Given the description of an element on the screen output the (x, y) to click on. 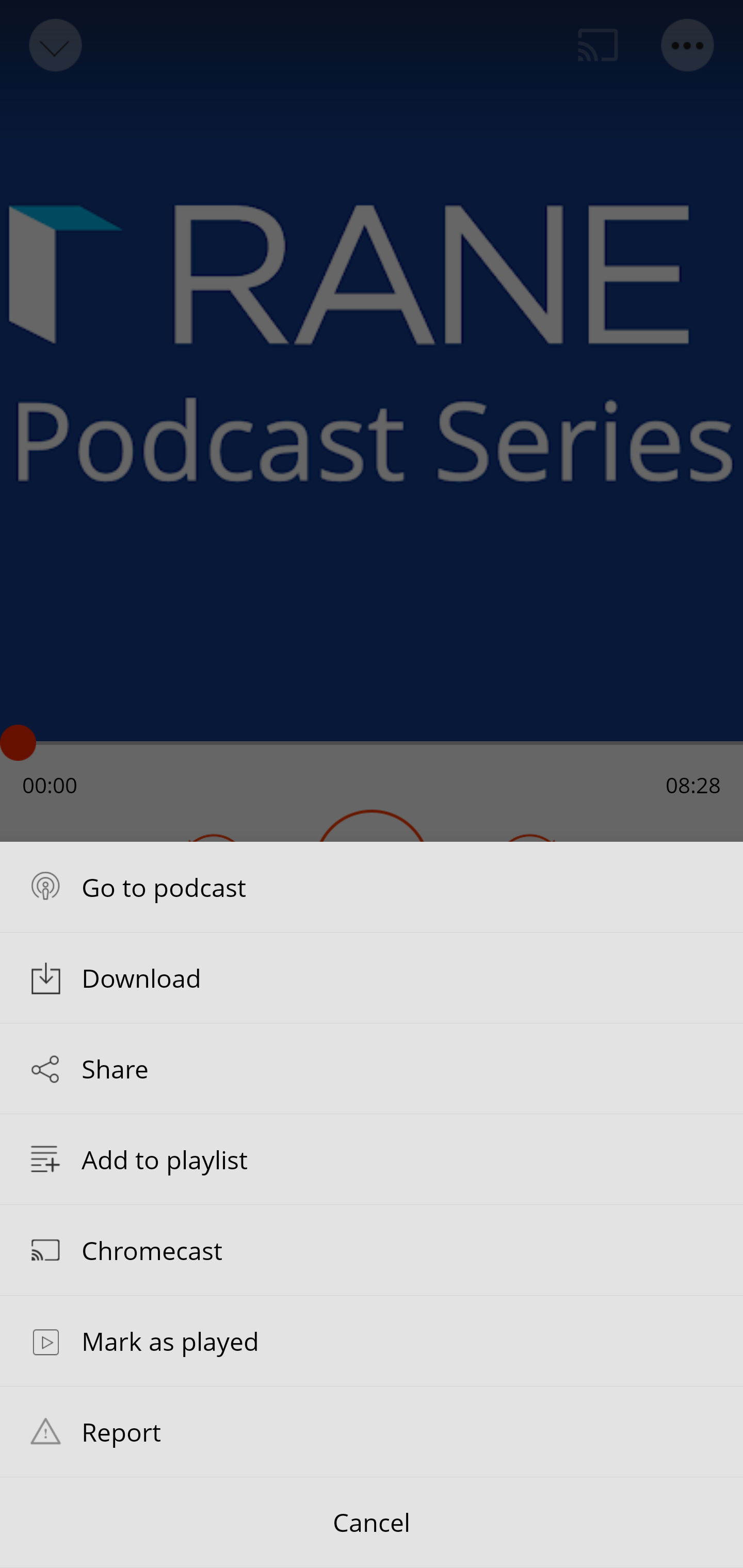
Go to podcast (371, 886)
Download (371, 977)
Share (371, 1068)
Add to playlist (371, 1159)
Chromecast (371, 1249)
Mark as played (371, 1340)
Report (371, 1431)
Cancel (371, 1522)
